Given the description of an element on the screen output the (x, y) to click on. 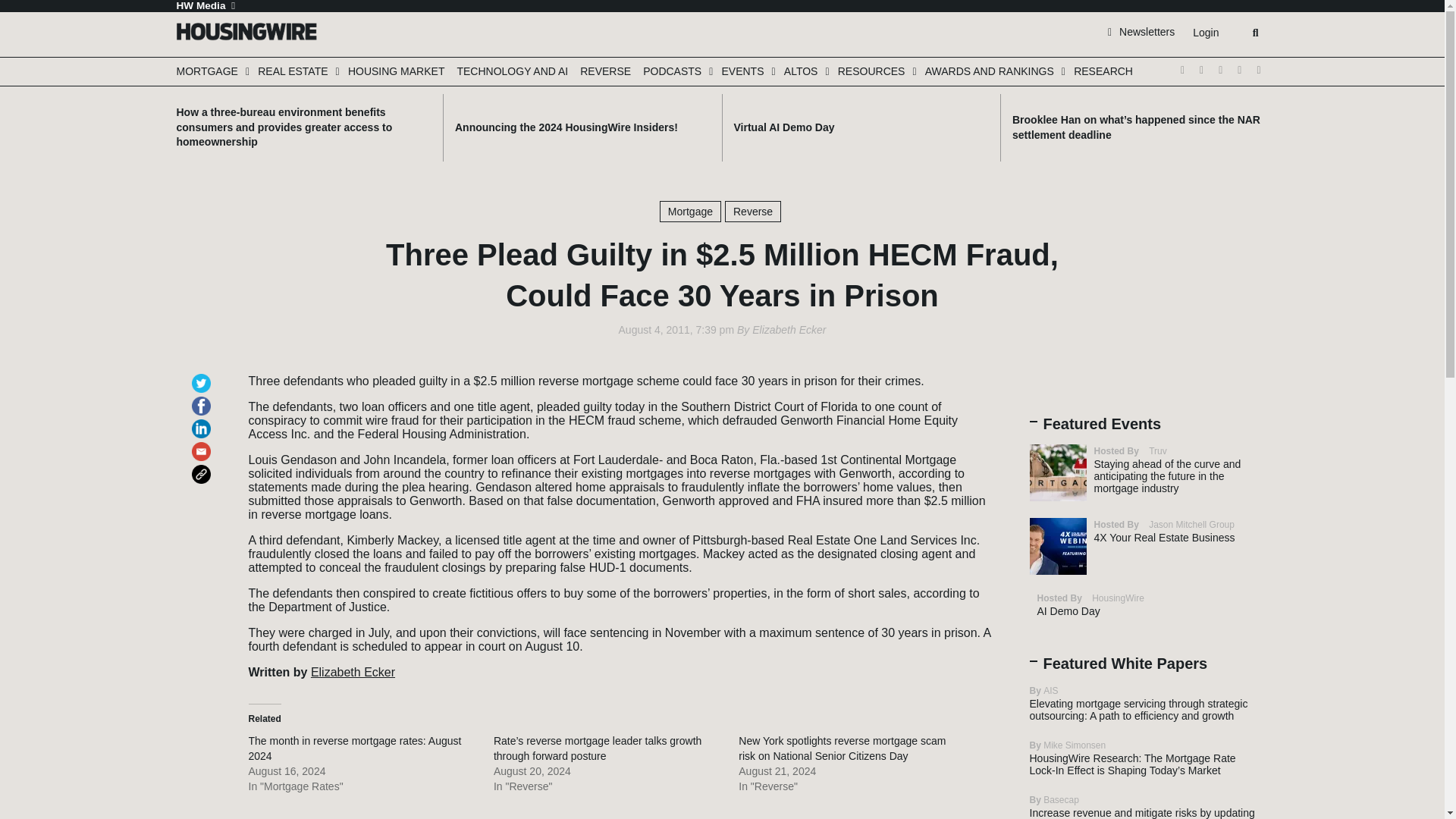
Login (1205, 32)
Newsletters (1141, 31)
The month in reverse mortgage rates: August 2024 (354, 748)
Posts by Elizabeth Ecker (788, 329)
Click to copy link (203, 467)
Click to email a link to a friend (203, 444)
Click to share on Twitter (203, 376)
Click to share on Facebook (203, 399)
Click to share on LinkedIn (203, 422)
